Given the description of an element on the screen output the (x, y) to click on. 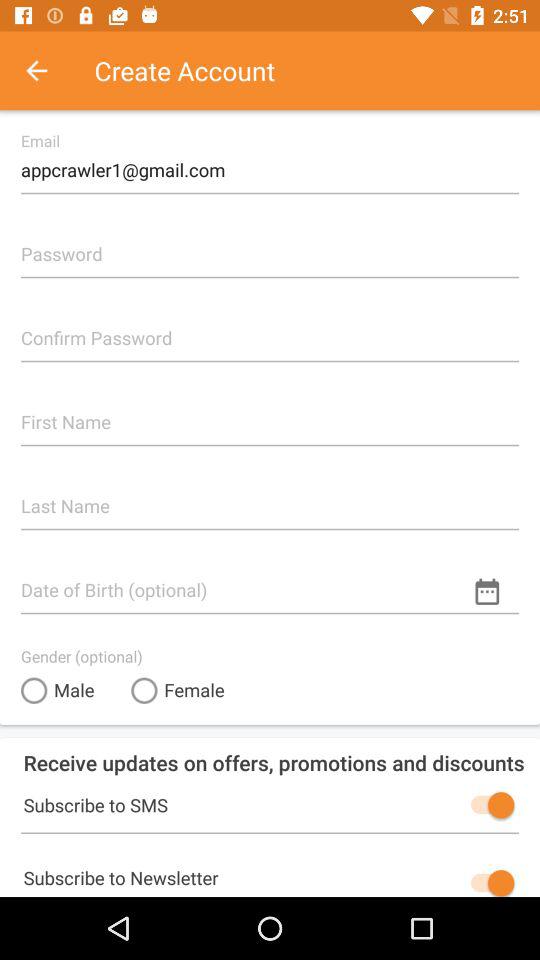
open item above receive updates on item (177, 690)
